Given the description of an element on the screen output the (x, y) to click on. 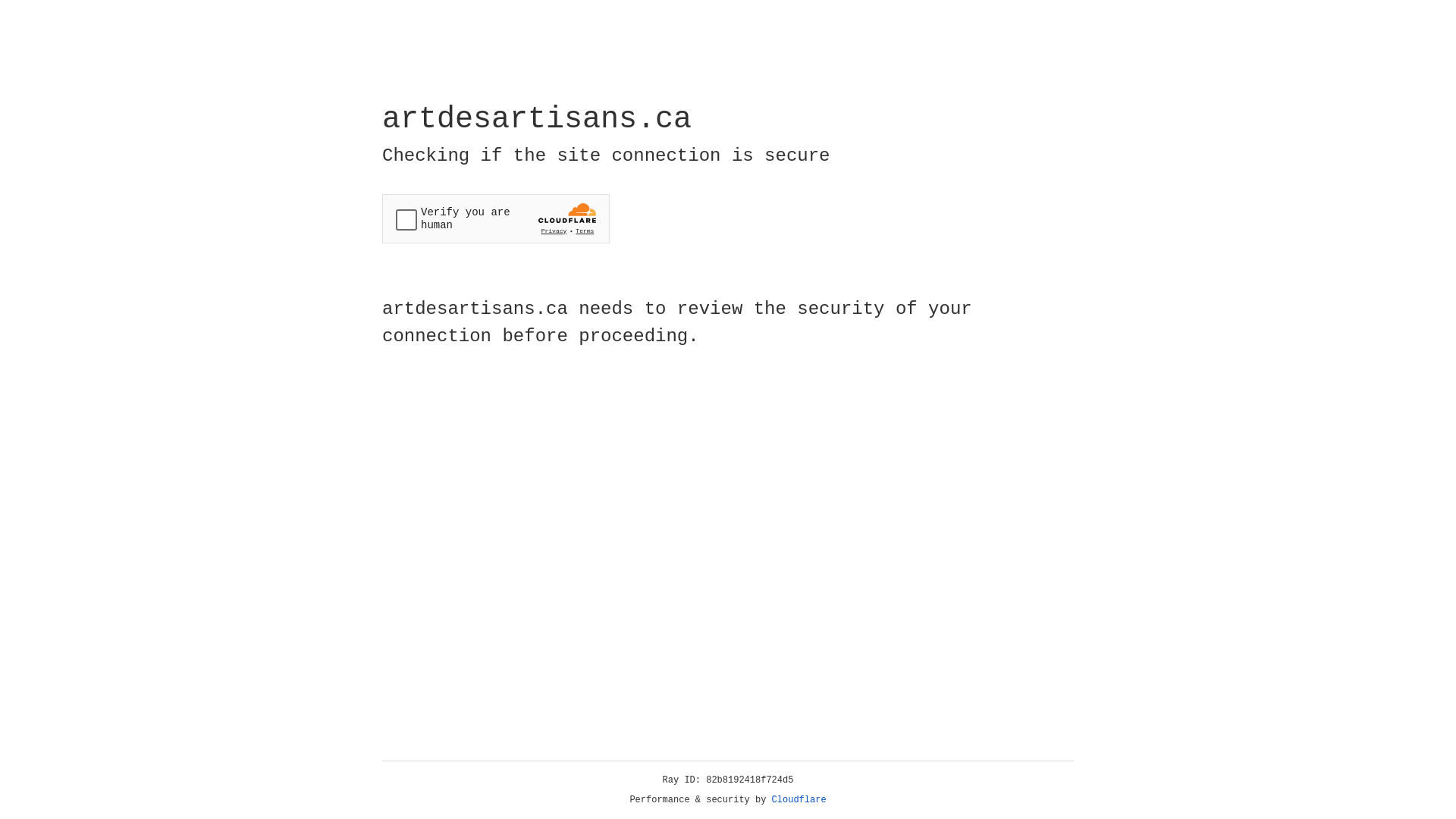
Cloudflare Element type: text (798, 799)
Widget containing a Cloudflare security challenge Element type: hover (495, 218)
